Given the description of an element on the screen output the (x, y) to click on. 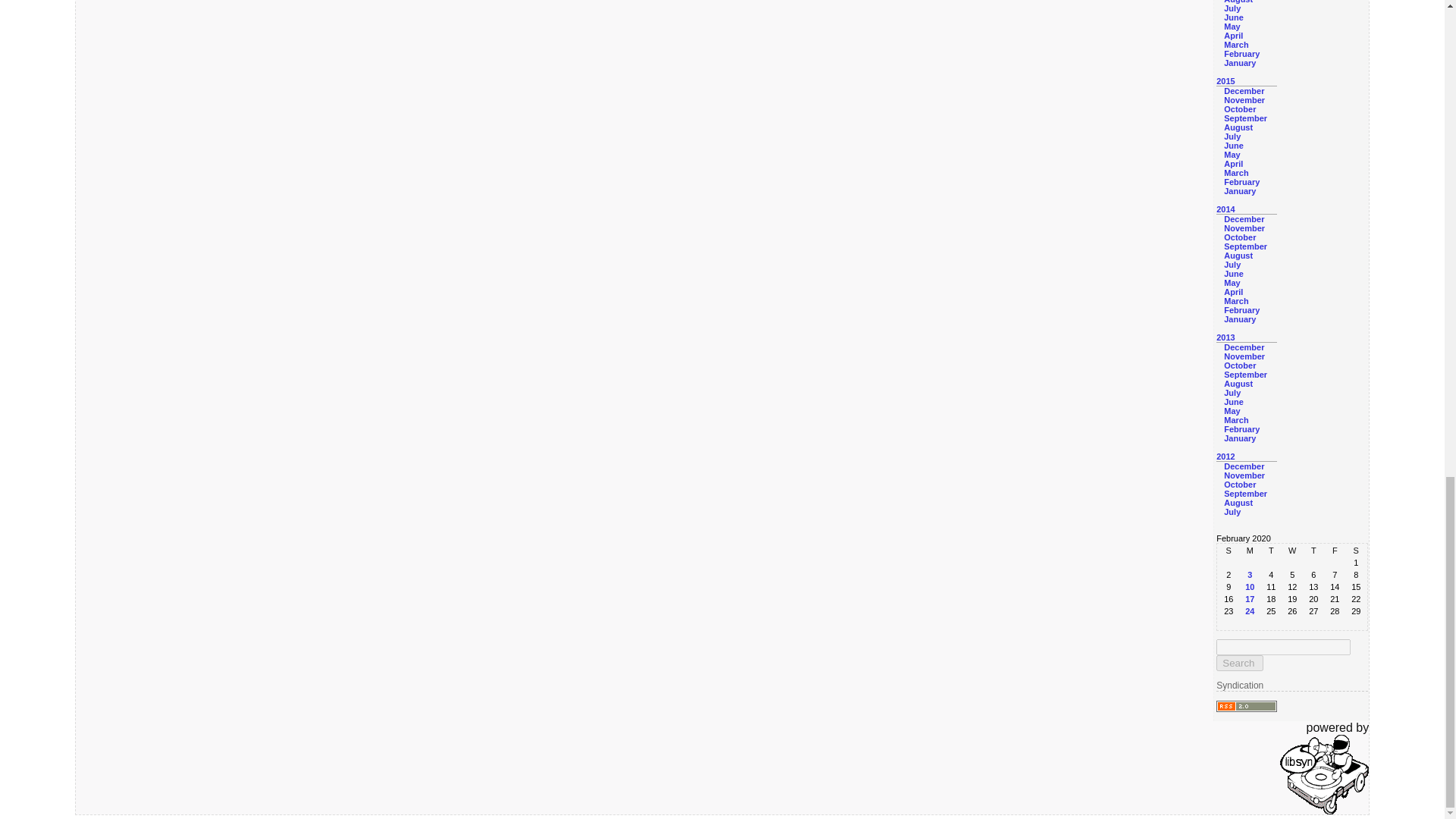
Sunday (1228, 550)
Search  (1239, 662)
Tuesday (1270, 550)
Saturday (1355, 550)
Monday (1249, 550)
Friday (1333, 550)
Wednesday (1291, 550)
Thursday (1313, 550)
